Given the description of an element on the screen output the (x, y) to click on. 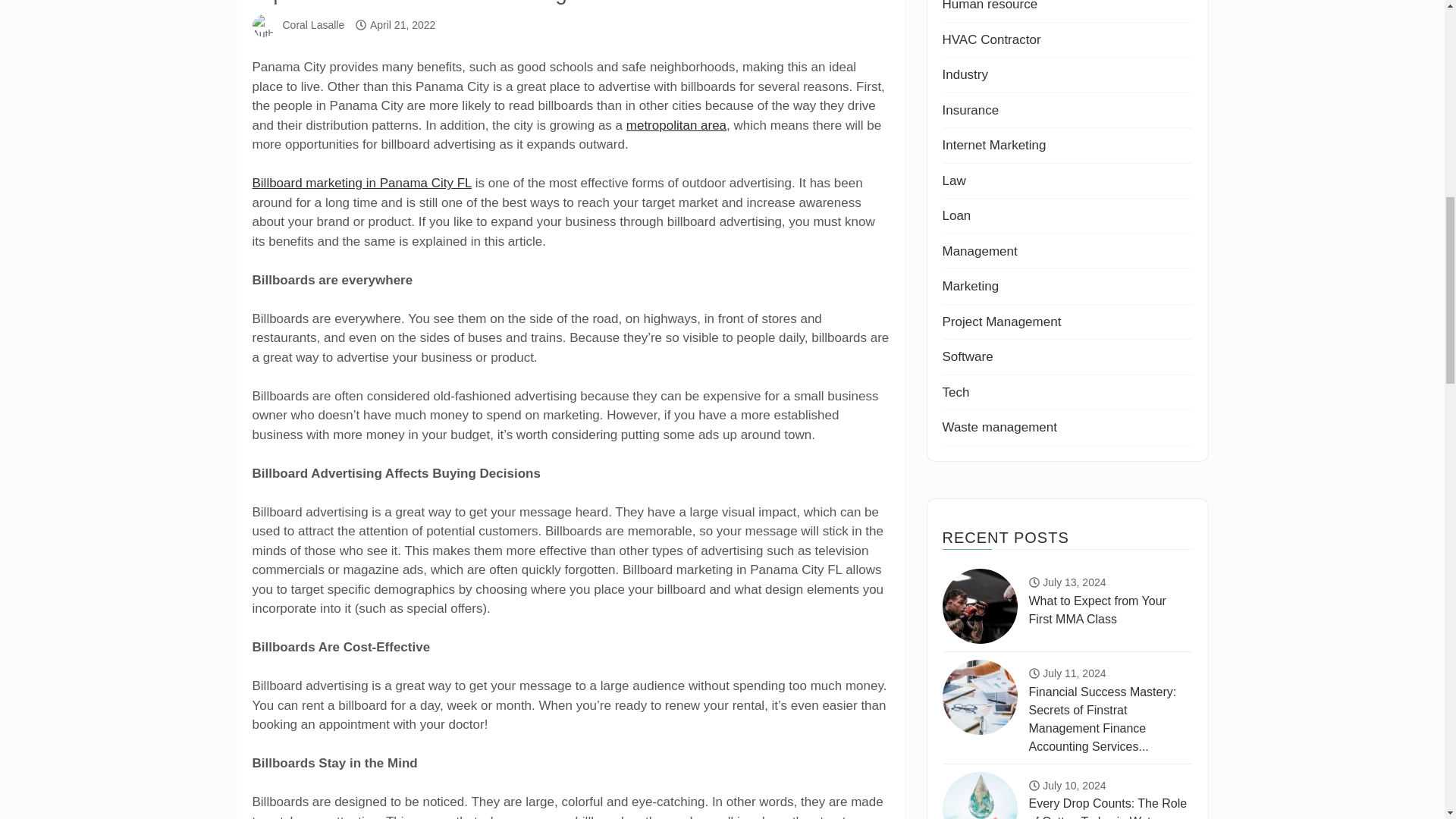
April 21, 2022 (402, 24)
Billboard marketing in Panama City FL (360, 183)
Coral Lasalle (312, 24)
metropolitan area (676, 124)
What to Expect from Your First MMA Class (979, 605)
